Given the description of an element on the screen output the (x, y) to click on. 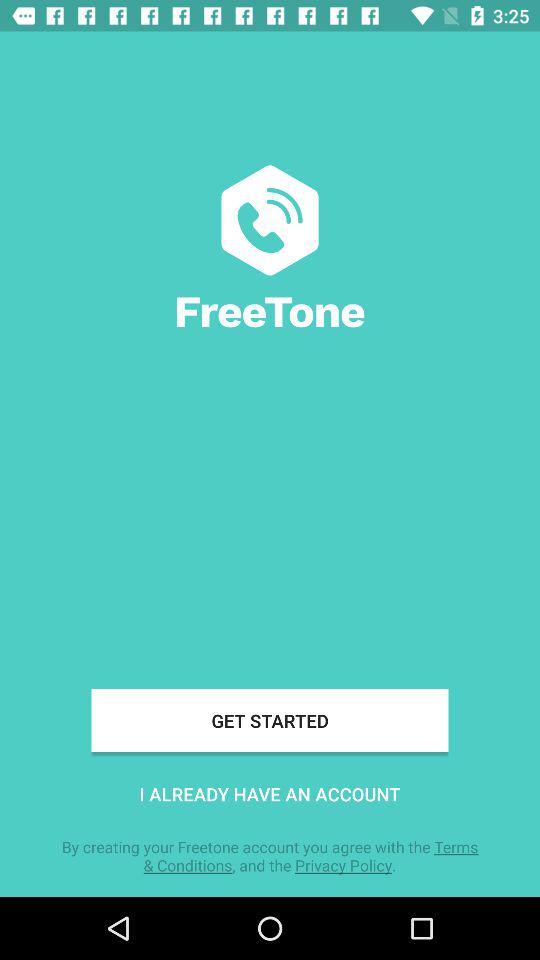
press icon above i already have (269, 720)
